Given the description of an element on the screen output the (x, y) to click on. 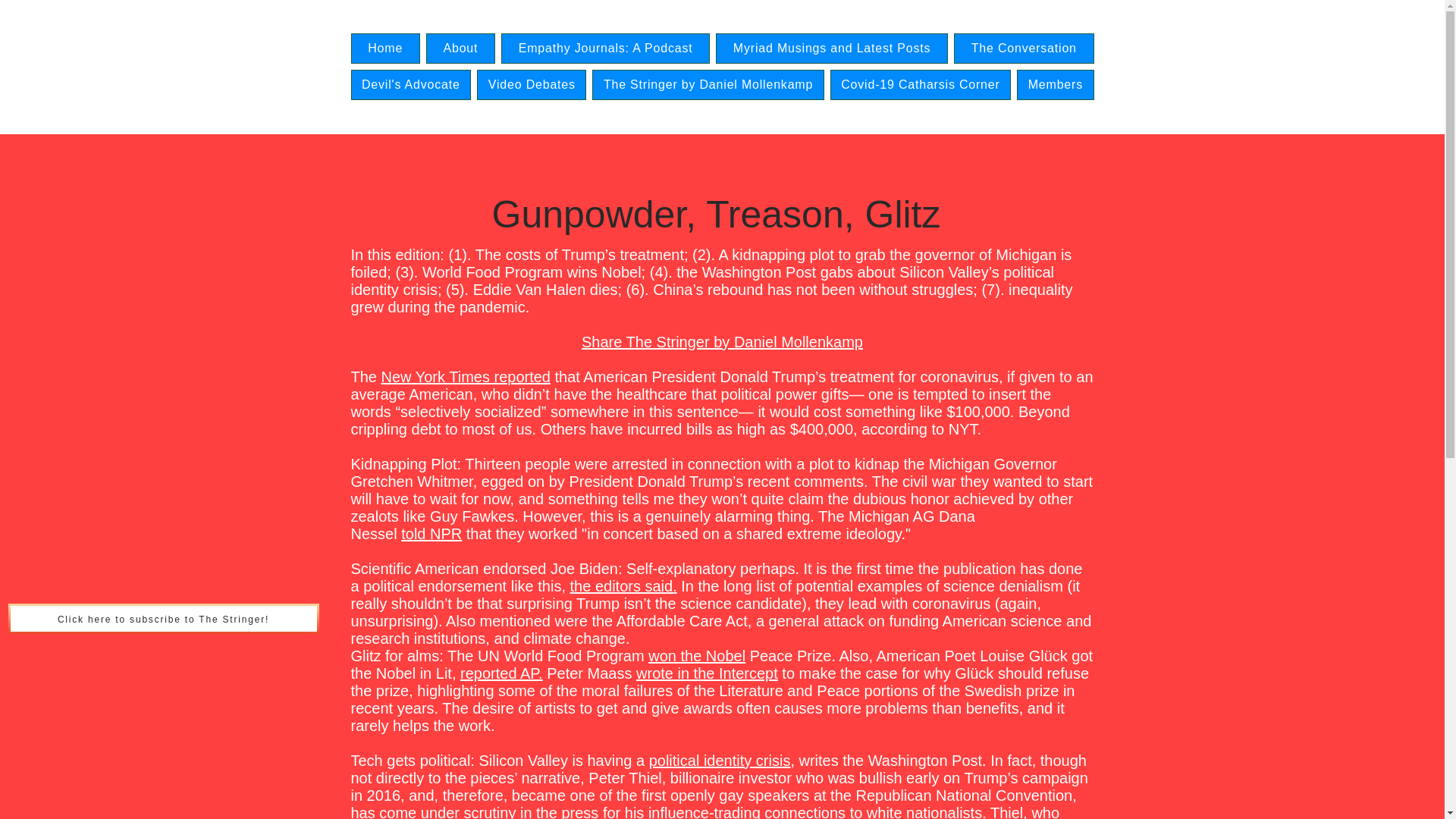
Empathy Journals: A Podcast (605, 48)
Video Debates (531, 84)
Home (384, 48)
Accedi (1041, 87)
Myriad Musings and Latest Posts (831, 48)
Devil's Advocate (410, 84)
The Conversation (1023, 48)
About (460, 48)
The Stringer by Daniel Mollenkamp (708, 84)
